Given the description of an element on the screen output the (x, y) to click on. 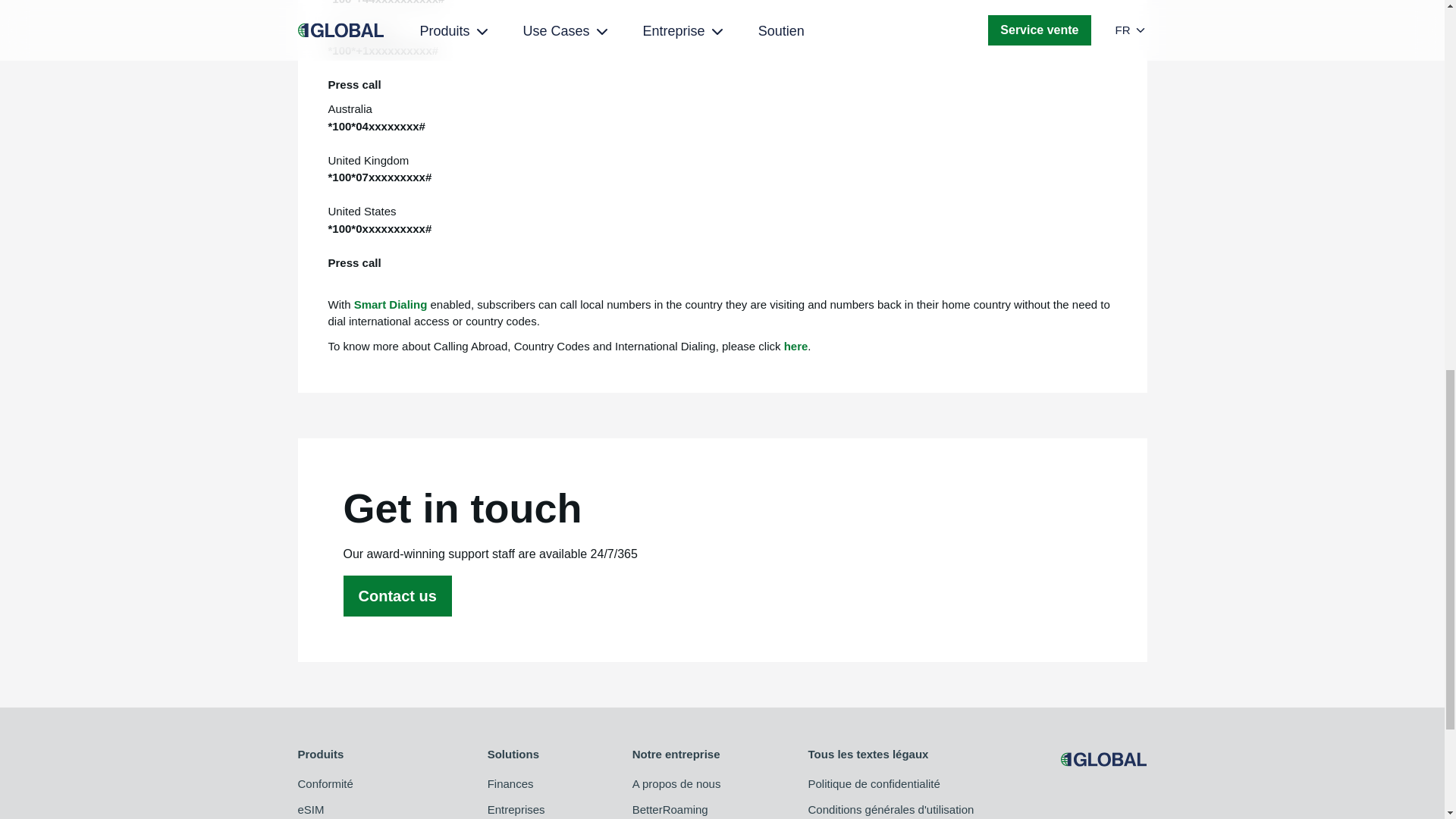
A propos de nous (675, 784)
BetterRoaming (675, 810)
Contact us (396, 595)
Smart Dialing (390, 304)
Notre entreprise (675, 754)
Finances (515, 784)
Solutions (515, 754)
eSIM (347, 810)
Entreprises (515, 810)
here (796, 345)
Produits (347, 754)
Contact us (396, 596)
